Given the description of an element on the screen output the (x, y) to click on. 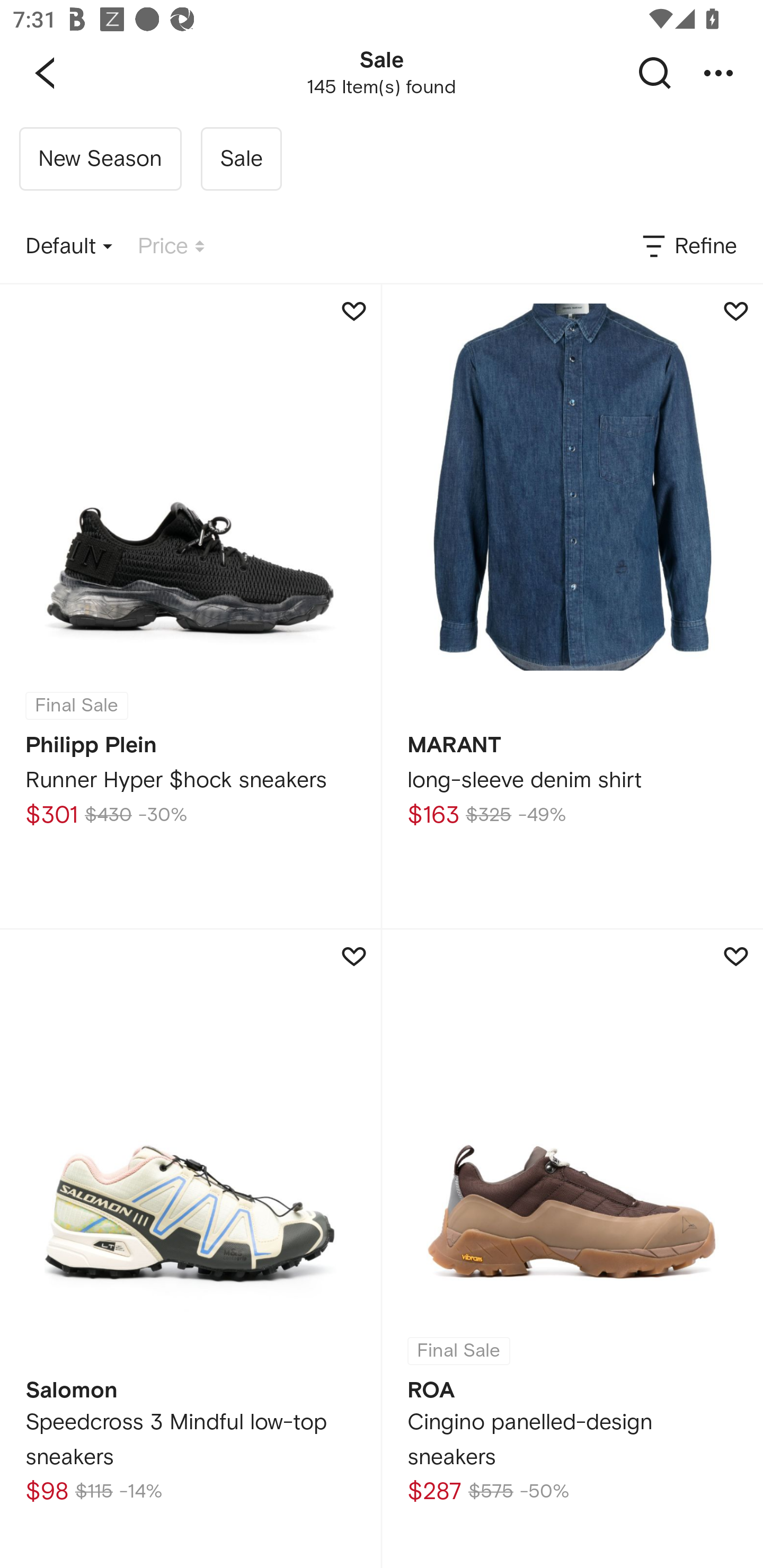
New Season (100, 158)
Sale (240, 158)
Default (68, 246)
Price (171, 246)
Refine (688, 246)
MARANT long-sleeve denim shirt $163 $325 -49% (572, 605)
